Given the description of an element on the screen output the (x, y) to click on. 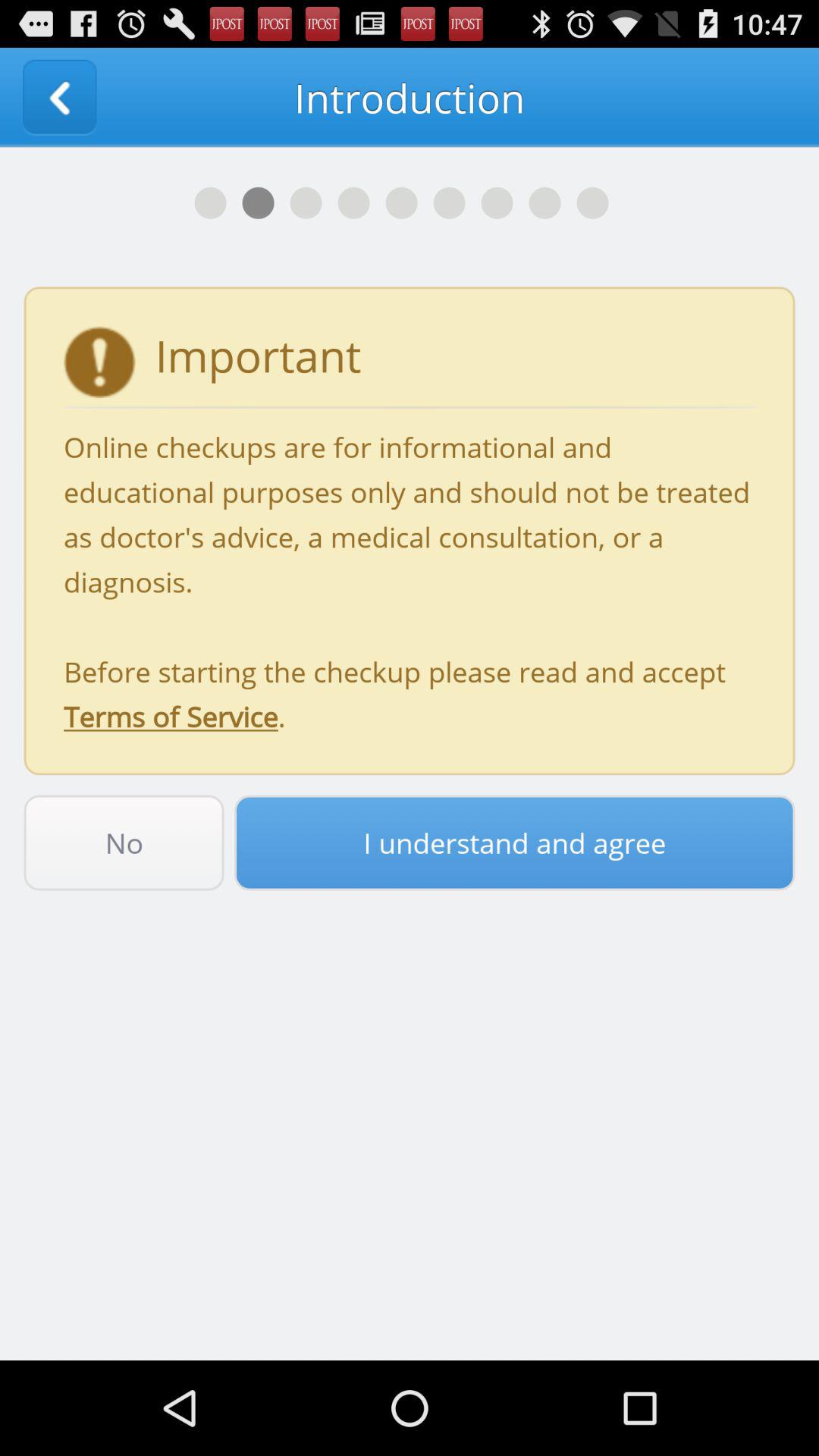
choose icon at the top left corner (59, 97)
